Given the description of an element on the screen output the (x, y) to click on. 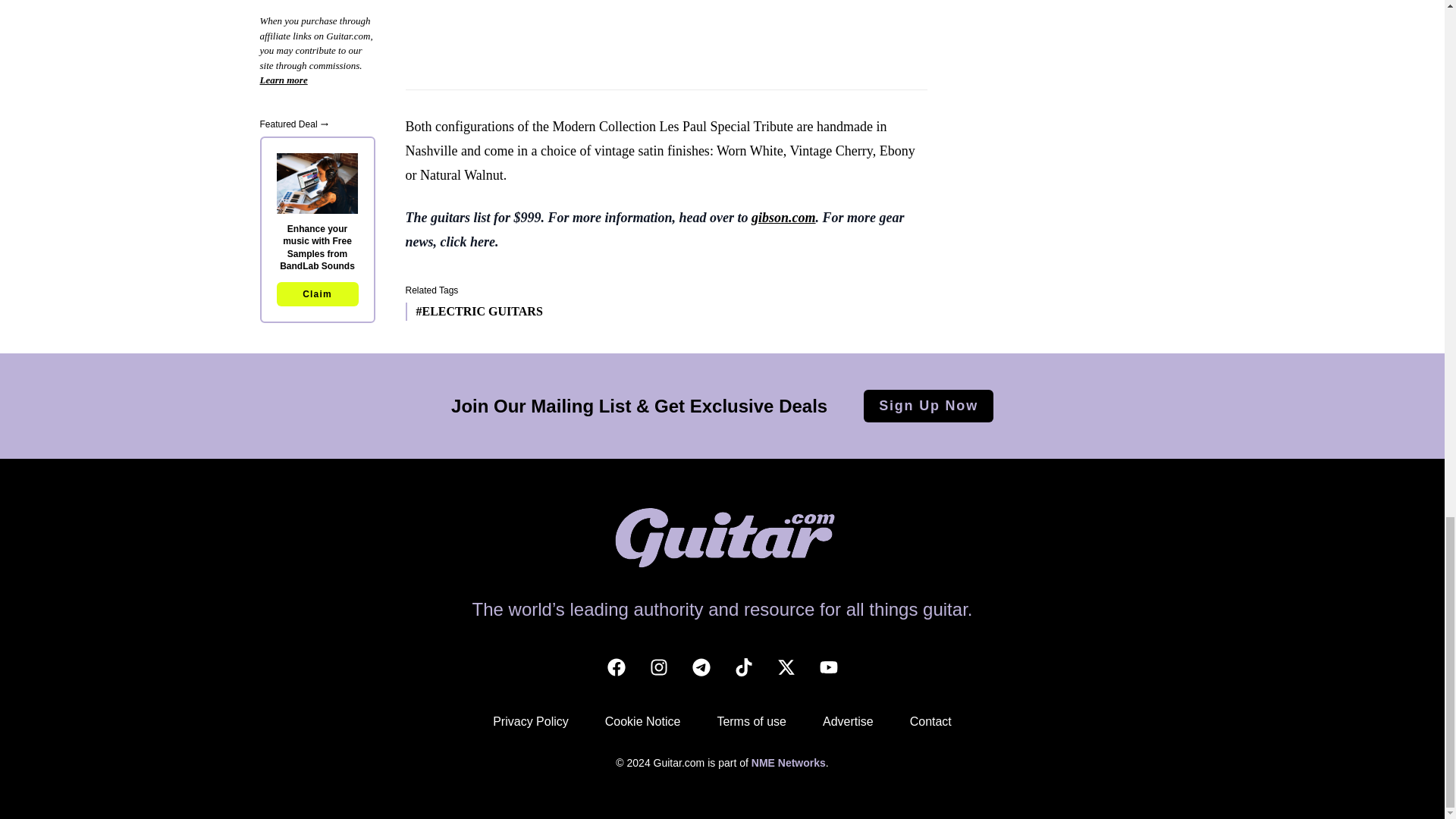
gibson.com (783, 217)
Sign Up Now (927, 405)
Electric Guitars (472, 311)
